Given the description of an element on the screen output the (x, y) to click on. 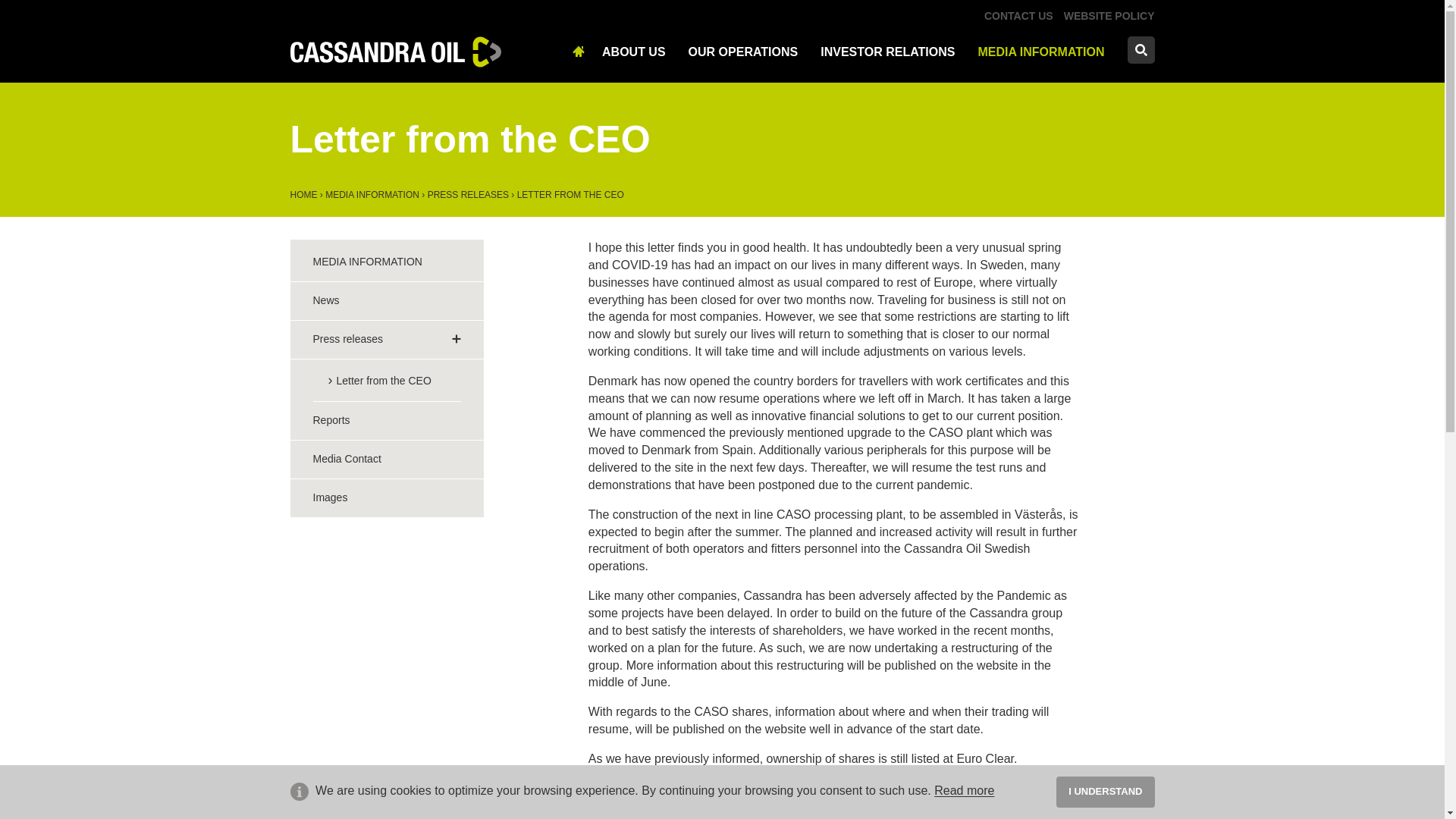
Home (303, 194)
MEDIA INFORMATION (1040, 50)
INVESTOR RELATIONS (887, 50)
OUR OPERATIONS (743, 50)
WEBSITE POLICY (1109, 15)
ABOUT US (634, 50)
Media Information (371, 194)
START (580, 48)
CONTACT US (1018, 15)
Press releases (468, 194)
